Given the description of an element on the screen output the (x, y) to click on. 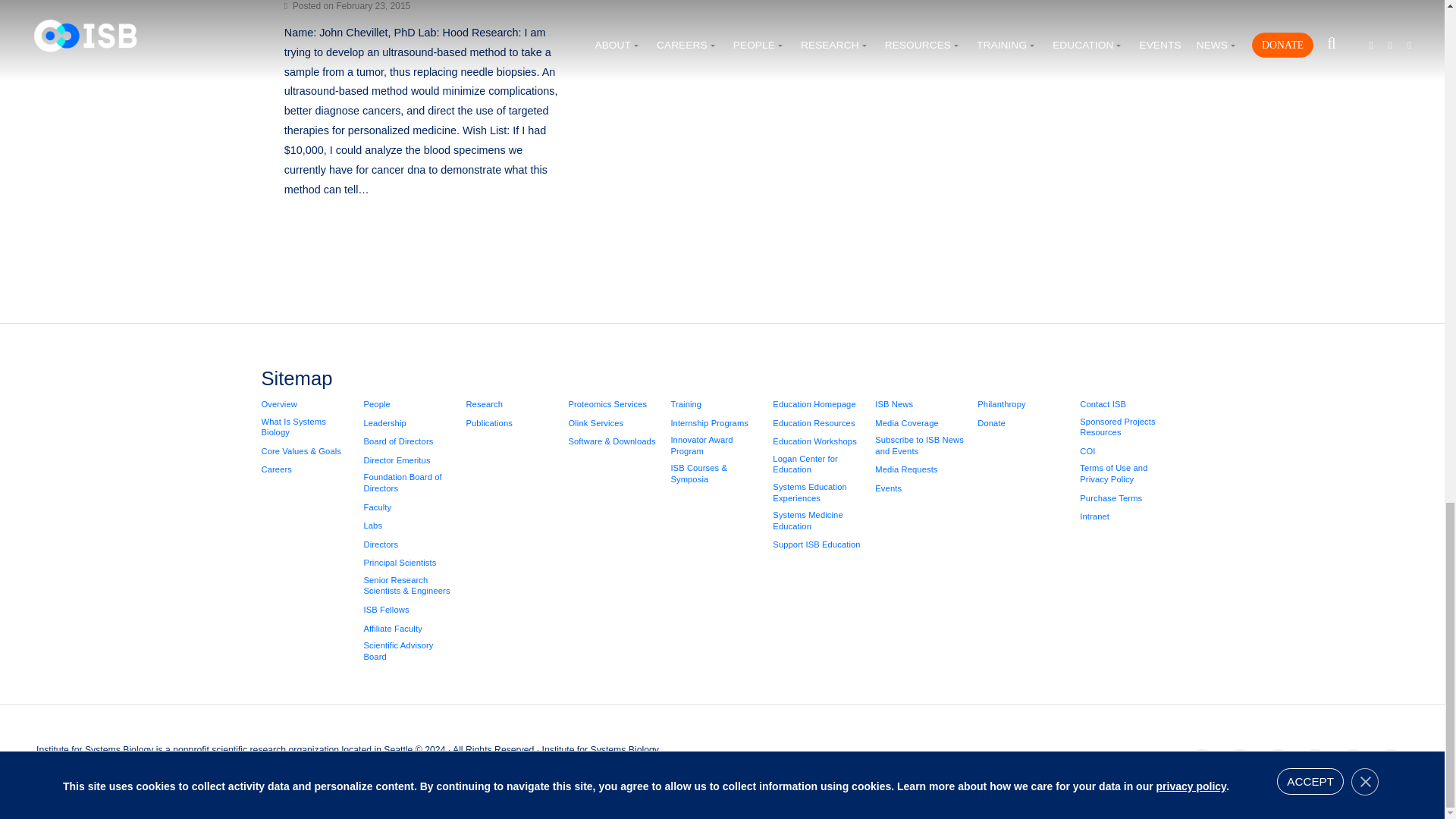
Flickr (1390, 765)
Facebook (1201, 765)
Instagram (1314, 765)
Twitter (1239, 765)
Youtube (1352, 765)
Linkedin (1278, 765)
